Given the description of an element on the screen output the (x, y) to click on. 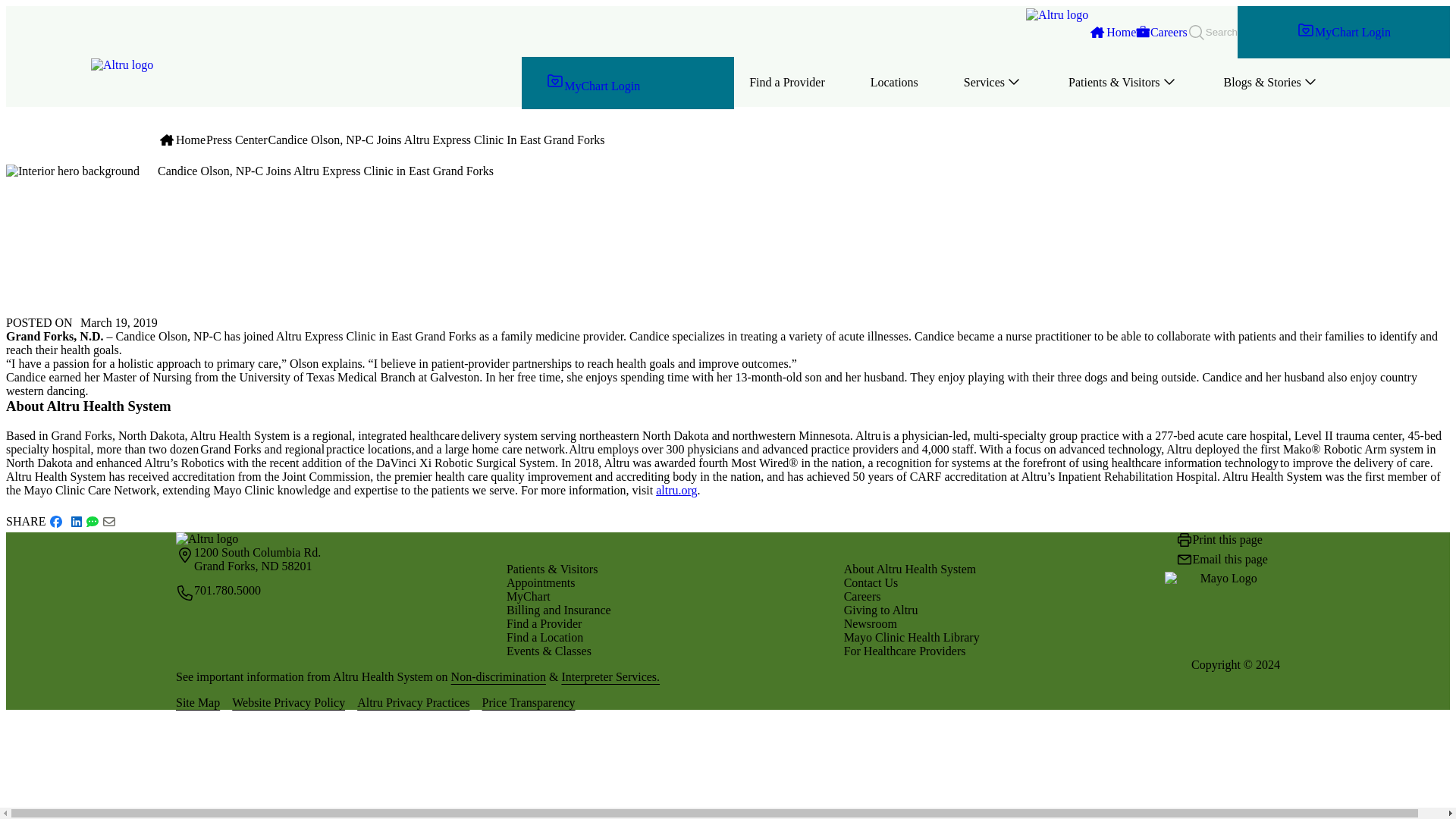
Find a Provider (786, 81)
Home (1111, 31)
Careers (1160, 32)
MyChart Login (627, 82)
Search (1212, 31)
Home (676, 490)
MyChart Login (1343, 31)
Email (109, 521)
Locations (894, 81)
Services (993, 82)
